Given the description of an element on the screen output the (x, y) to click on. 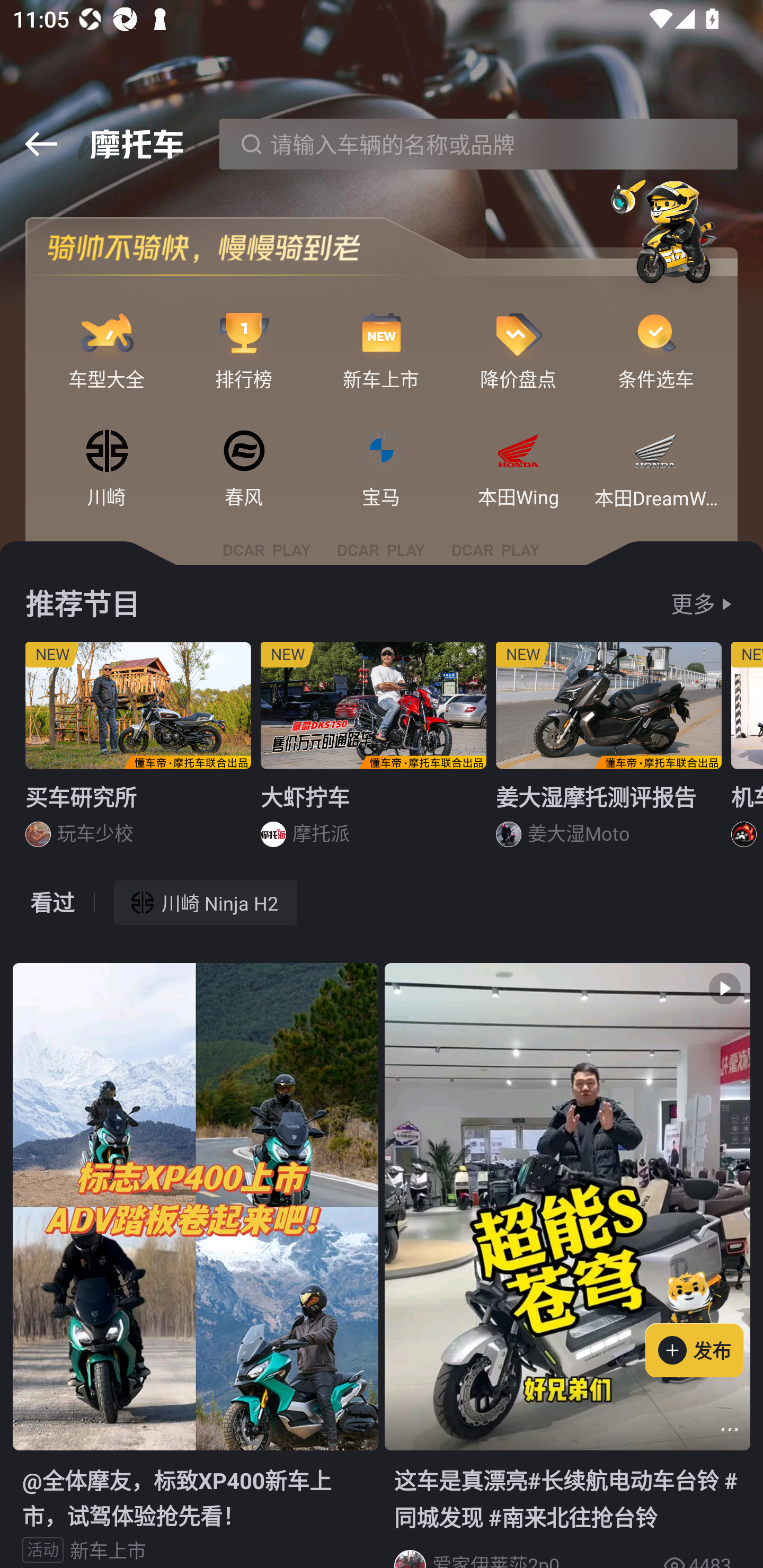
 请输入车辆的名称或品牌 (478, 144)
 (41, 144)
车型大全 (106, 334)
排行榜 (243, 334)
新车上市 (381, 334)
降价盘点 (518, 334)
条件选车 (655, 334)
川崎 (106, 452)
春风 (243, 452)
宝马 (381, 452)
本田Wing (518, 452)
本田DreamWing (655, 452)
更多 (692, 603)
NEW 买车研究所 玩车少校 (138, 750)
NEW 大虾拧车 摩托派 (373, 750)
NEW 姜大湿摩托测评报告 姜大湿Moto (608, 750)
川崎 Ninja H2 (205, 902)
@全体摩友，标致XP400新车上市，试驾体验抢先看！ 活动 新车上市 (195, 1265)
发布 (704, 1320)
 (729, 1429)
